Given the description of an element on the screen output the (x, y) to click on. 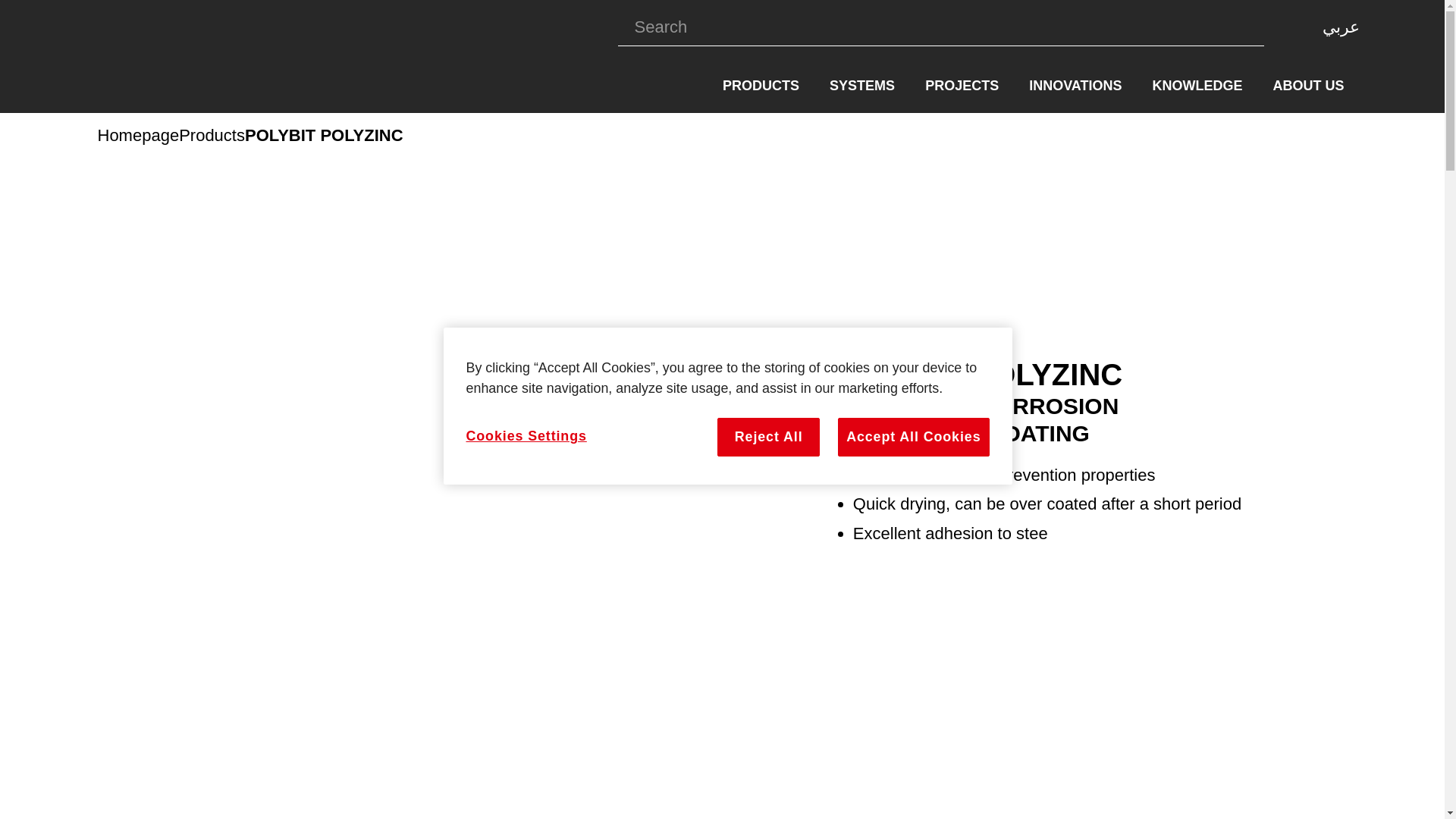
KNOWLEDGE (1197, 86)
SYSTEMS (861, 86)
Products (211, 135)
PROJECTS (961, 86)
Search (936, 27)
ABOUT US (1307, 86)
PRODUCTS (760, 86)
INNOVATIONS (1075, 86)
Homepage (138, 135)
